Given the description of an element on the screen output the (x, y) to click on. 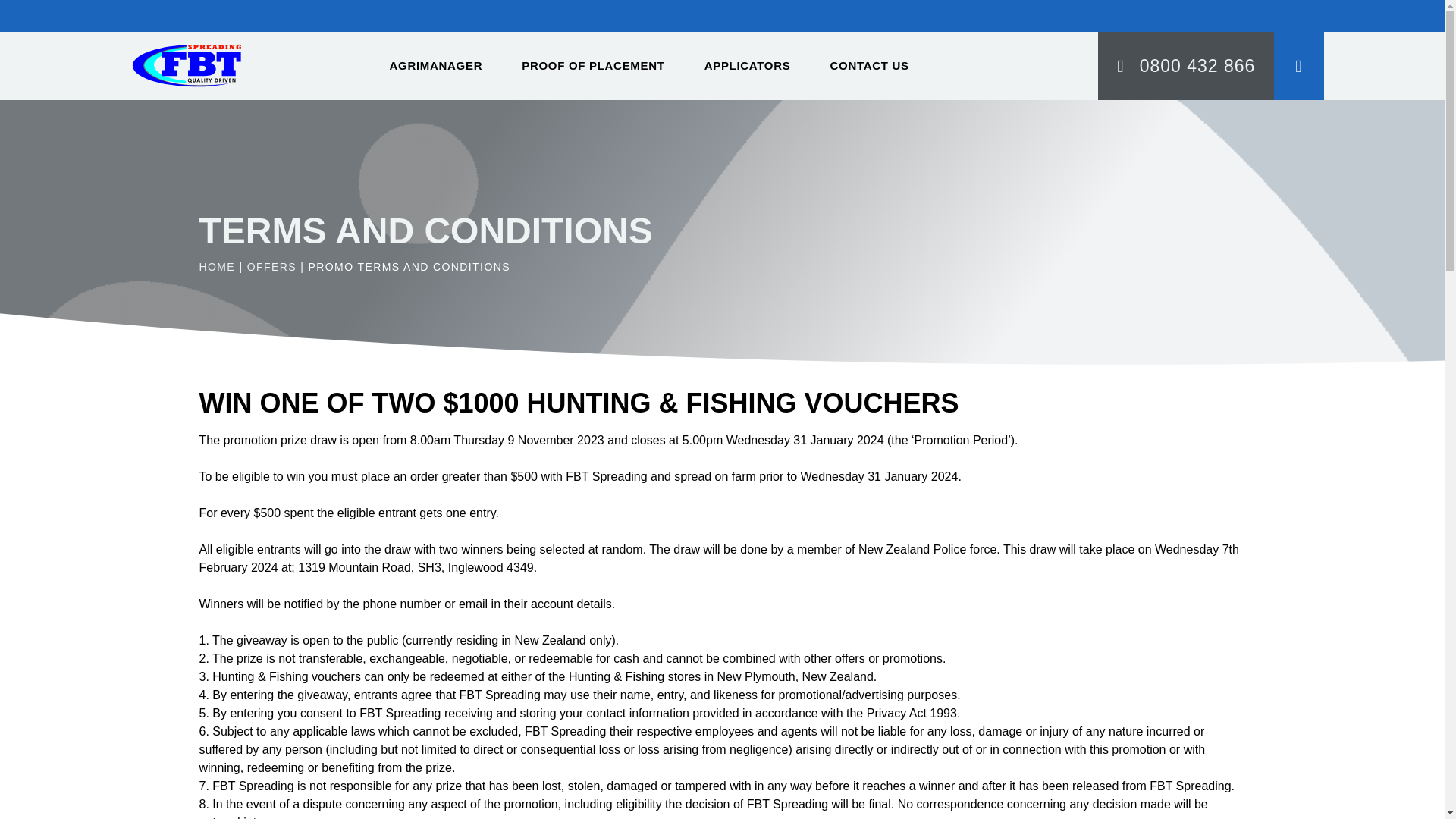
PROOF OF PLACEMENT (593, 65)
APPLICATORS (747, 65)
CONTACT US (868, 65)
AGRIMANAGER (435, 65)
